Given the description of an element on the screen output the (x, y) to click on. 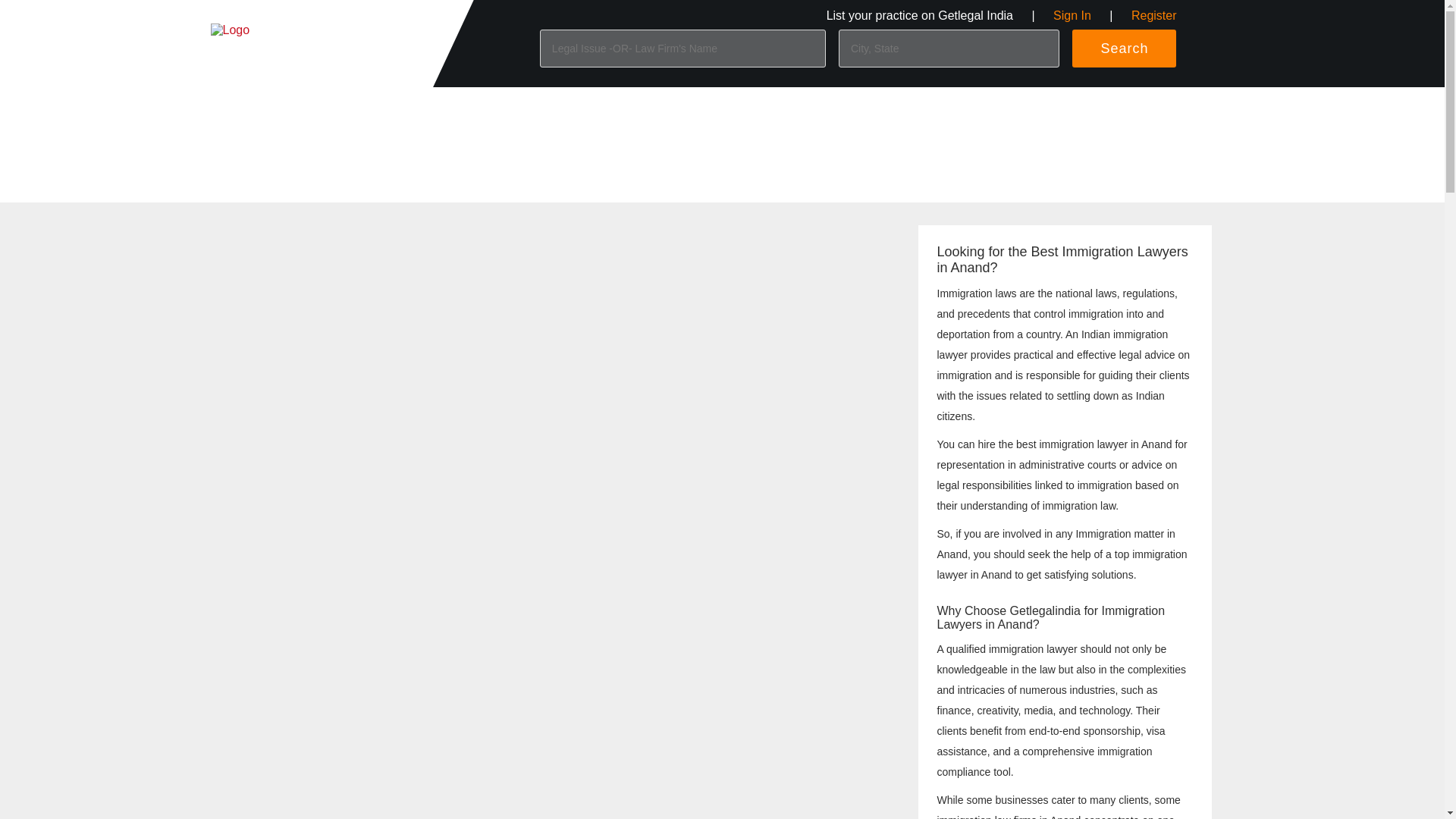
Search (1123, 48)
Immigration (365, 108)
Anand (460, 108)
Register (1153, 15)
GJ (419, 108)
Lawyers Directory (275, 108)
Sign In (1071, 15)
